Given the description of an element on the screen output the (x, y) to click on. 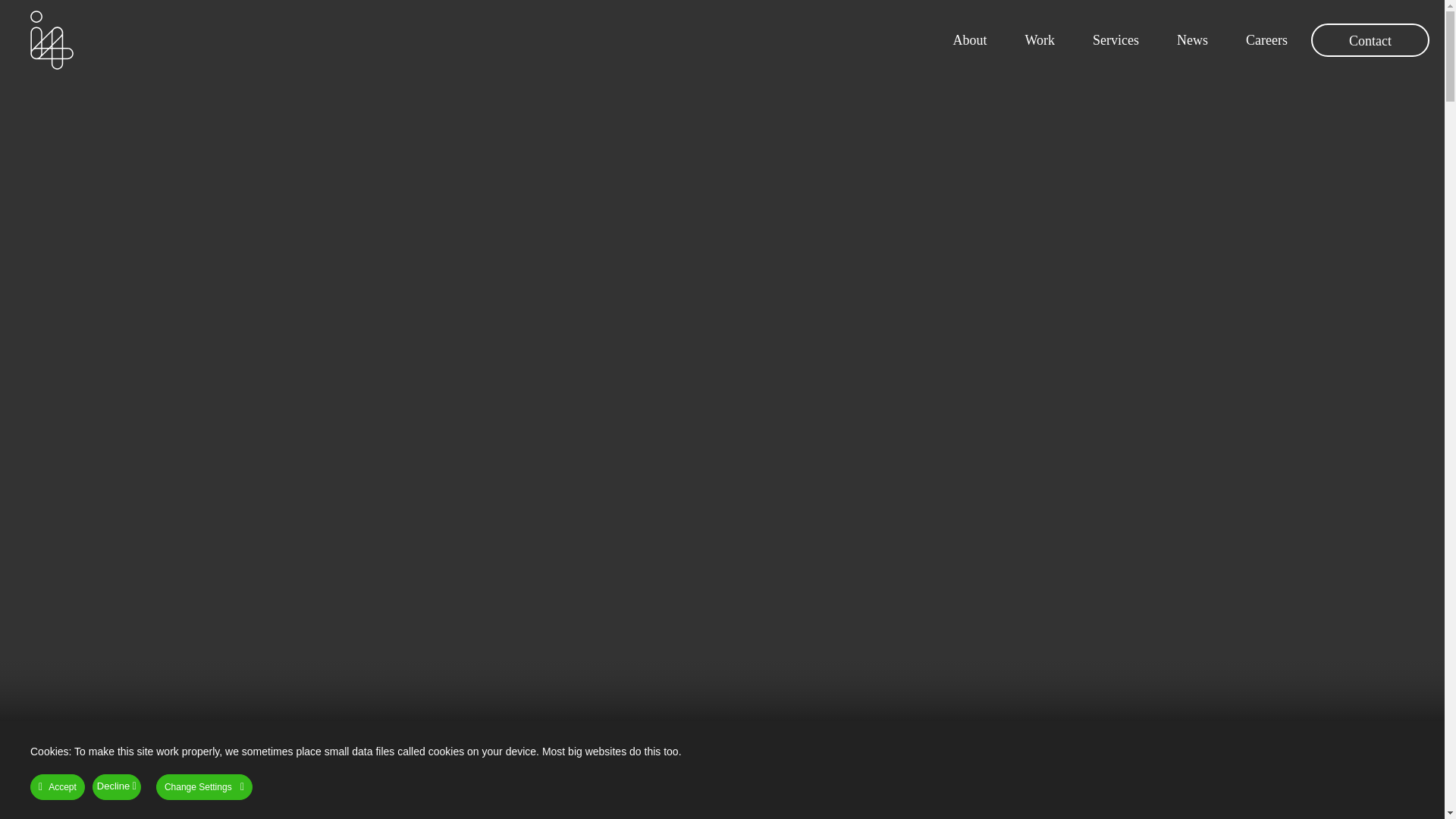
Services (1115, 40)
News (1192, 40)
About (969, 40)
Contact (1370, 39)
Careers (1266, 40)
